Given the description of an element on the screen output the (x, y) to click on. 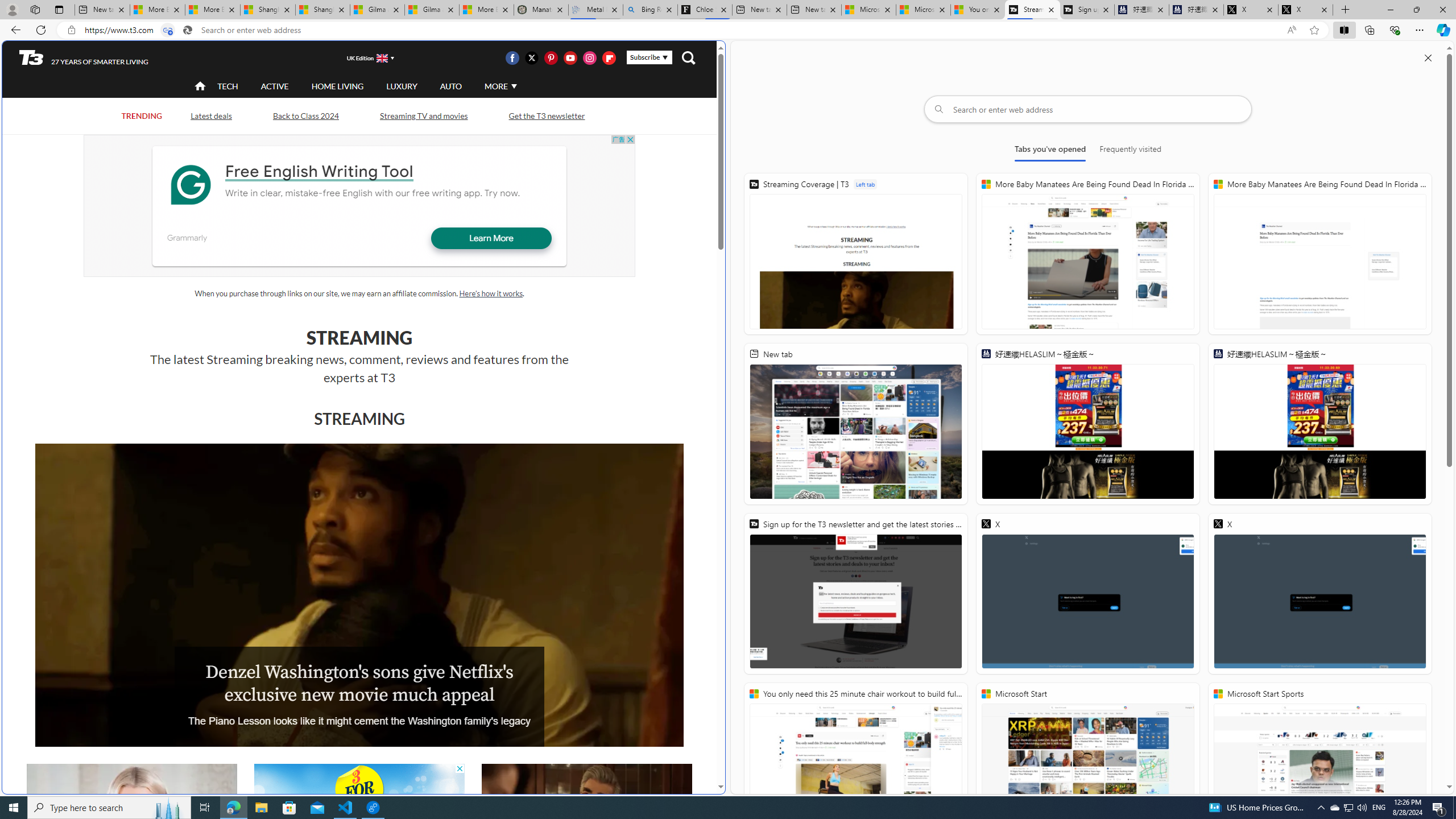
Latest deals (210, 115)
HOME LIVING (337, 86)
Get the T3 newsletter (546, 115)
flag of UK (382, 57)
Latest deals (211, 115)
Search or enter web address (1088, 108)
Visit us on Twitter (531, 57)
Subscribe (649, 56)
Visit us on Instagram (589, 57)
